Given the description of an element on the screen output the (x, y) to click on. 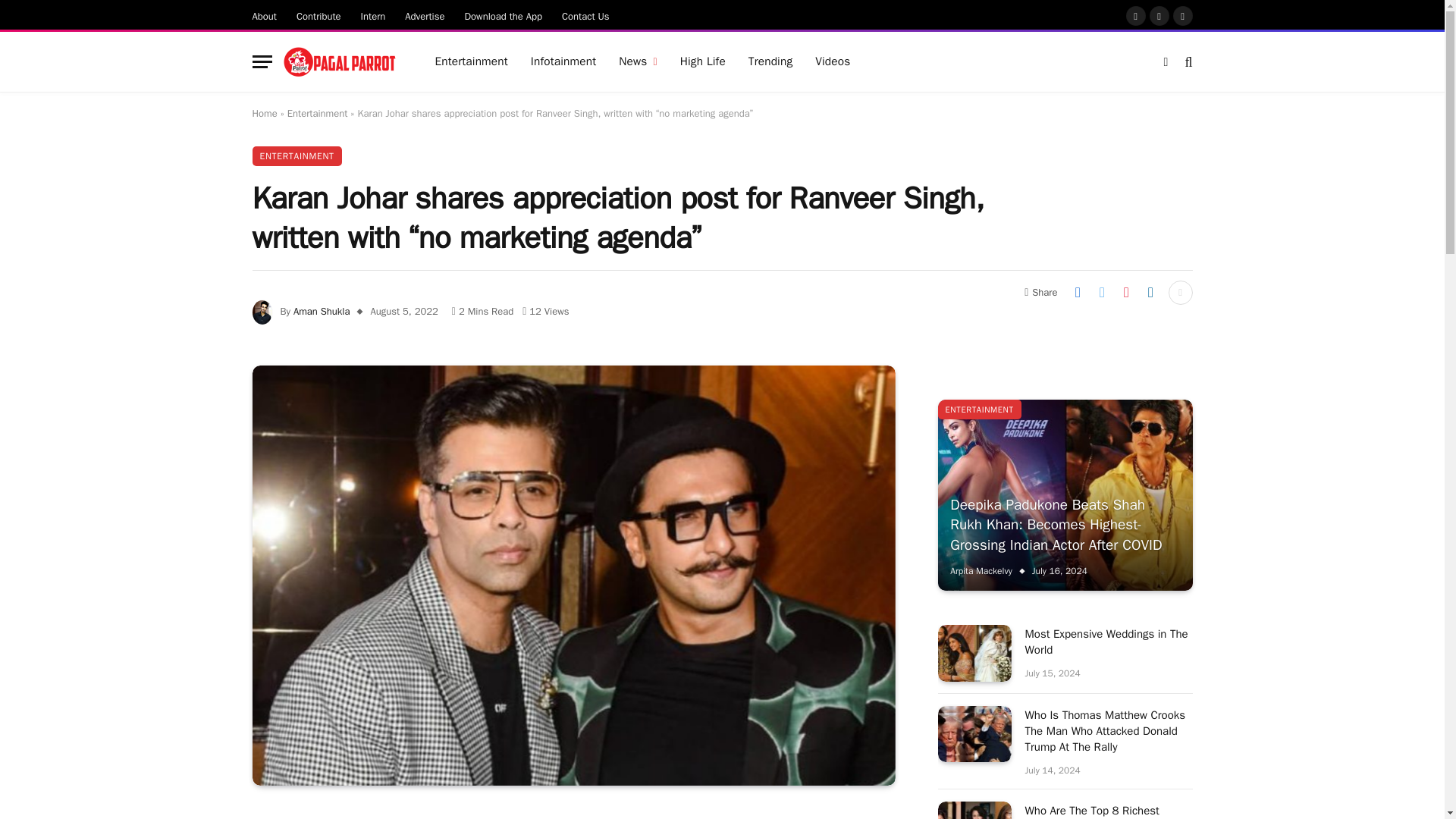
Contribute (318, 15)
Switch to Dark Design - easier on eyes. (1165, 61)
Download the App (503, 15)
Intern (373, 15)
Advertise (424, 15)
Contact Us (585, 15)
PagalParrot (340, 62)
About (264, 15)
